Given the description of an element on the screen output the (x, y) to click on. 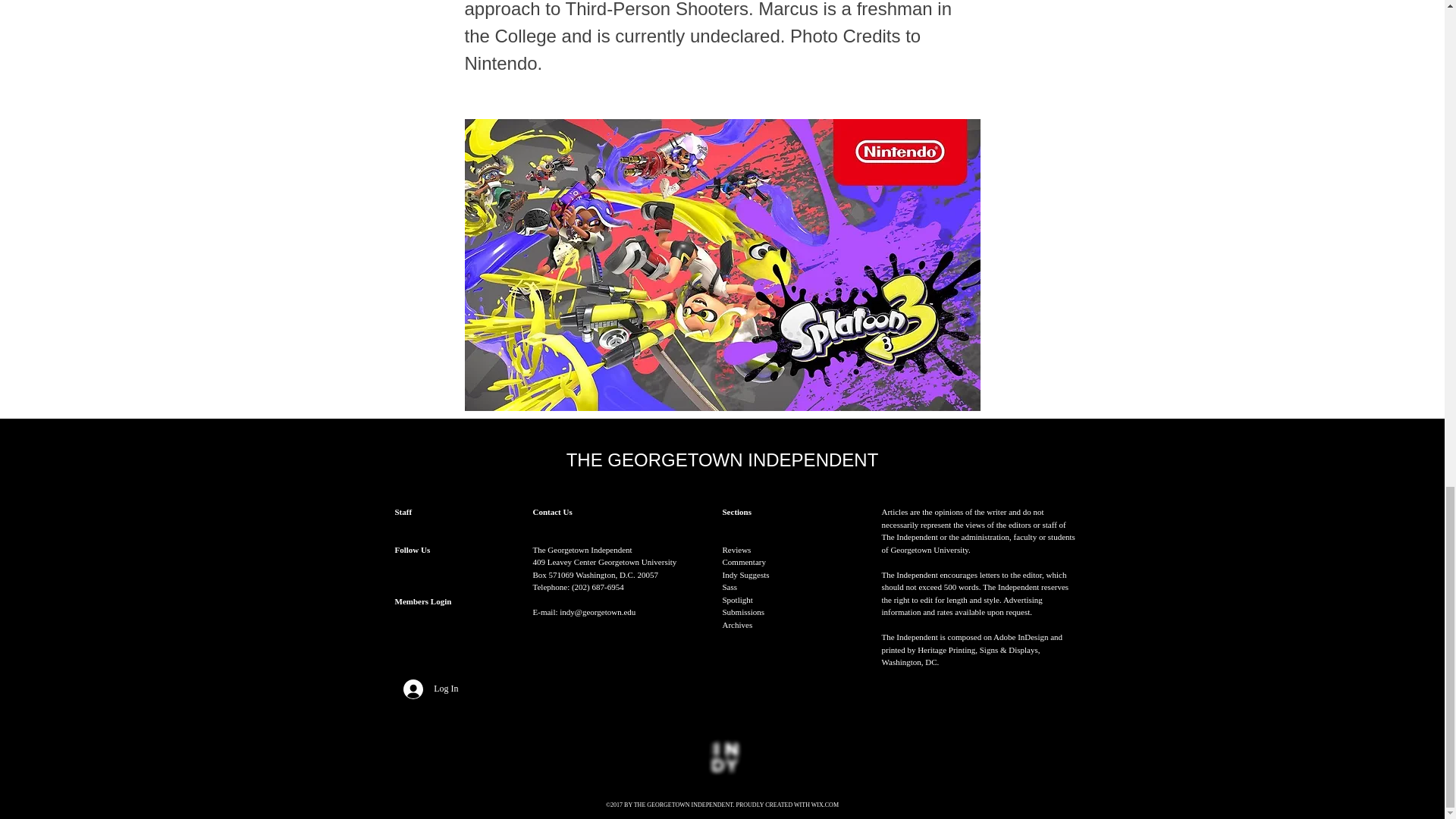
Indy Suggests (745, 574)
Commentary (743, 561)
Sass (729, 586)
Spotlight (737, 599)
Log In (430, 688)
Submissions (743, 611)
Staff (403, 511)
Archives (737, 624)
Reviews (736, 549)
